Given the description of an element on the screen output the (x, y) to click on. 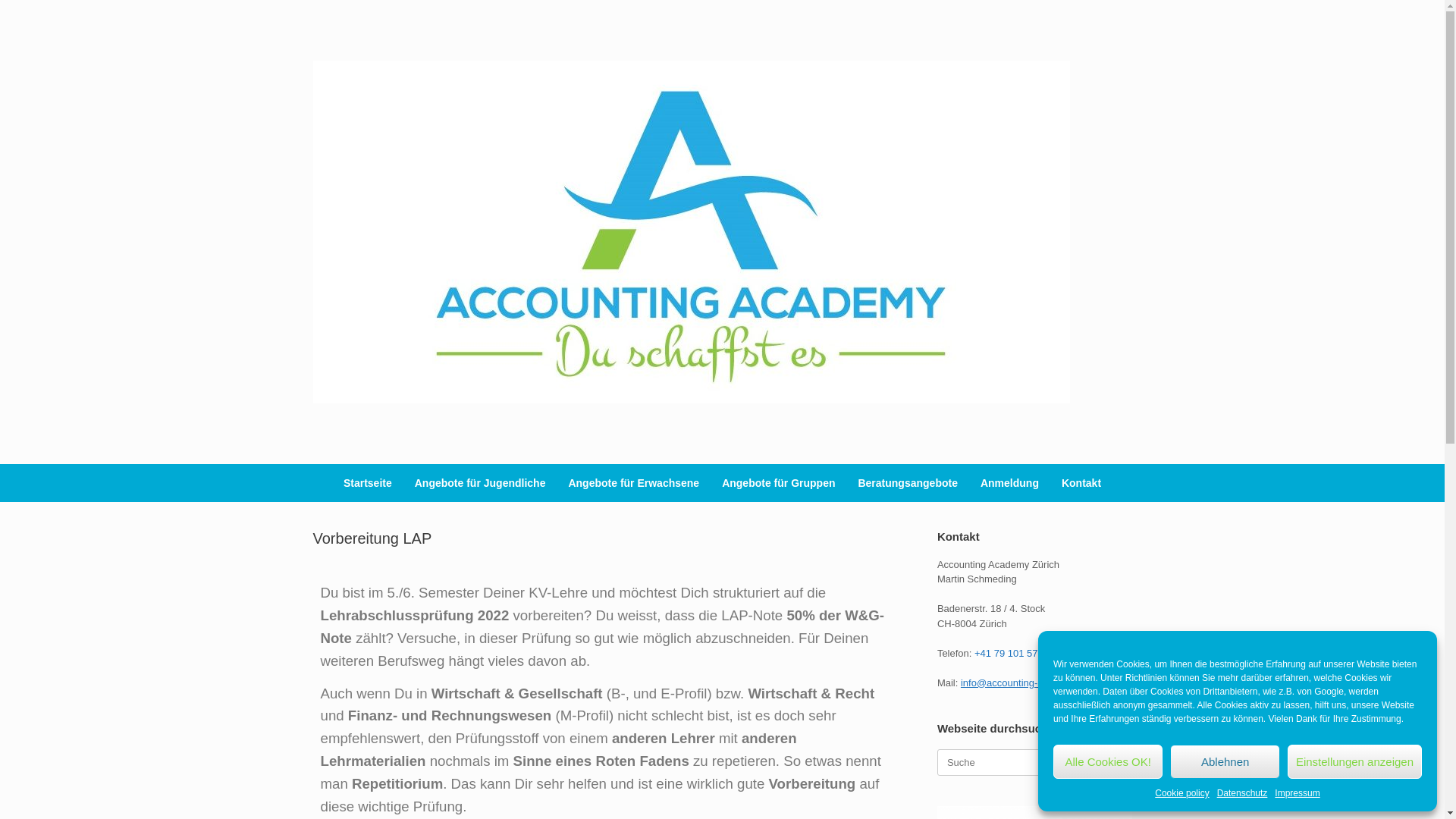
info@accounting-academy.ch Element type: text (1025, 681)
Kontakt Element type: text (1081, 483)
Ablehnen Element type: text (1224, 761)
Beratungsangebote Element type: text (907, 483)
Alle Cookies OK! Element type: text (1107, 761)
Impressum Element type: text (1296, 793)
Anmeldung Element type: text (1009, 483)
Einstellungen anzeigen Element type: text (1354, 761)
Cookie policy Element type: text (1181, 793)
Startseite Element type: text (367, 483)
Datenschutz Element type: text (1242, 793)
+41 79 101 57 05 Element type: text (1012, 652)
